Given the description of an element on the screen output the (x, y) to click on. 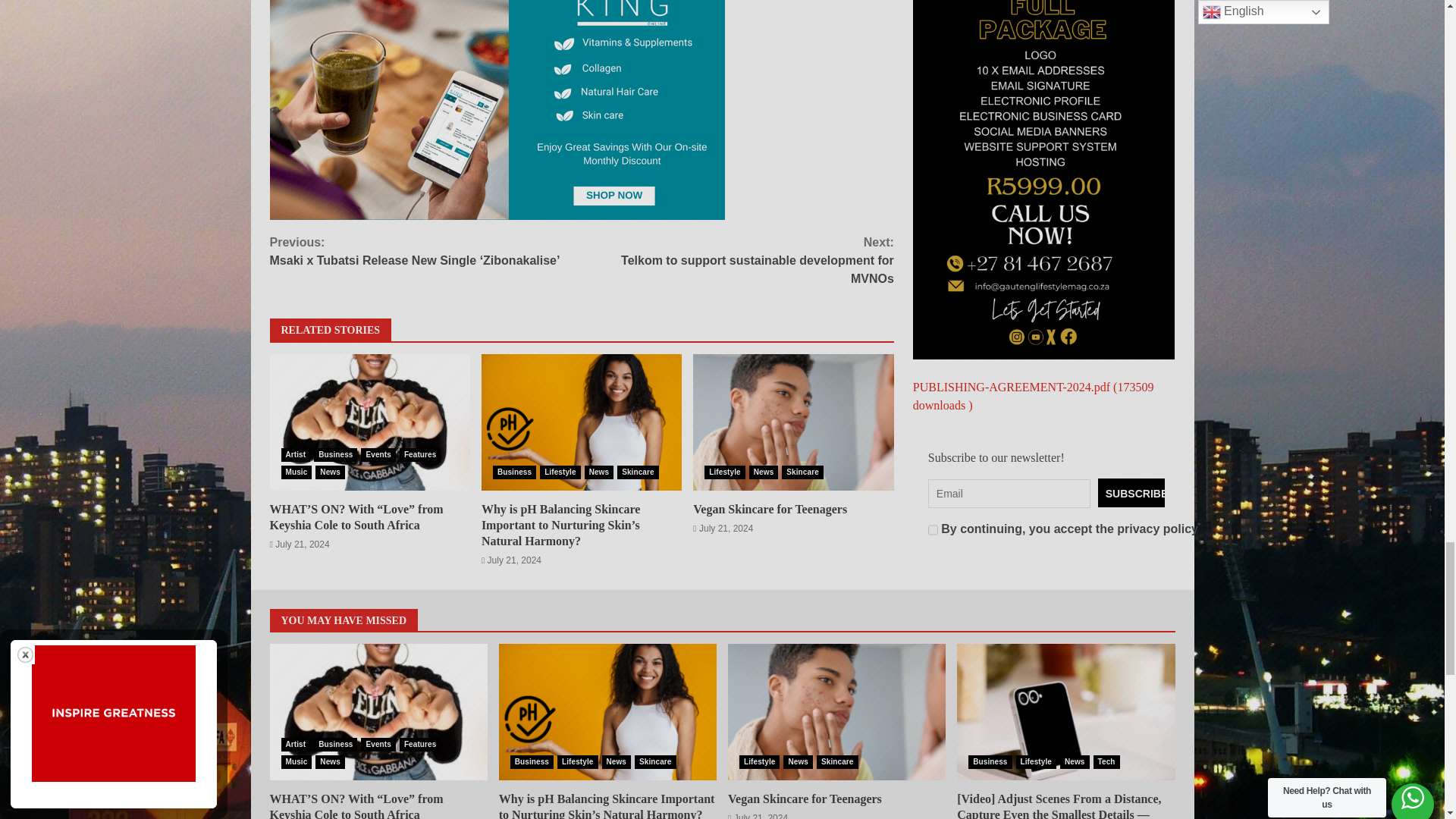
Subscribe (1131, 23)
